Given the description of an element on the screen output the (x, y) to click on. 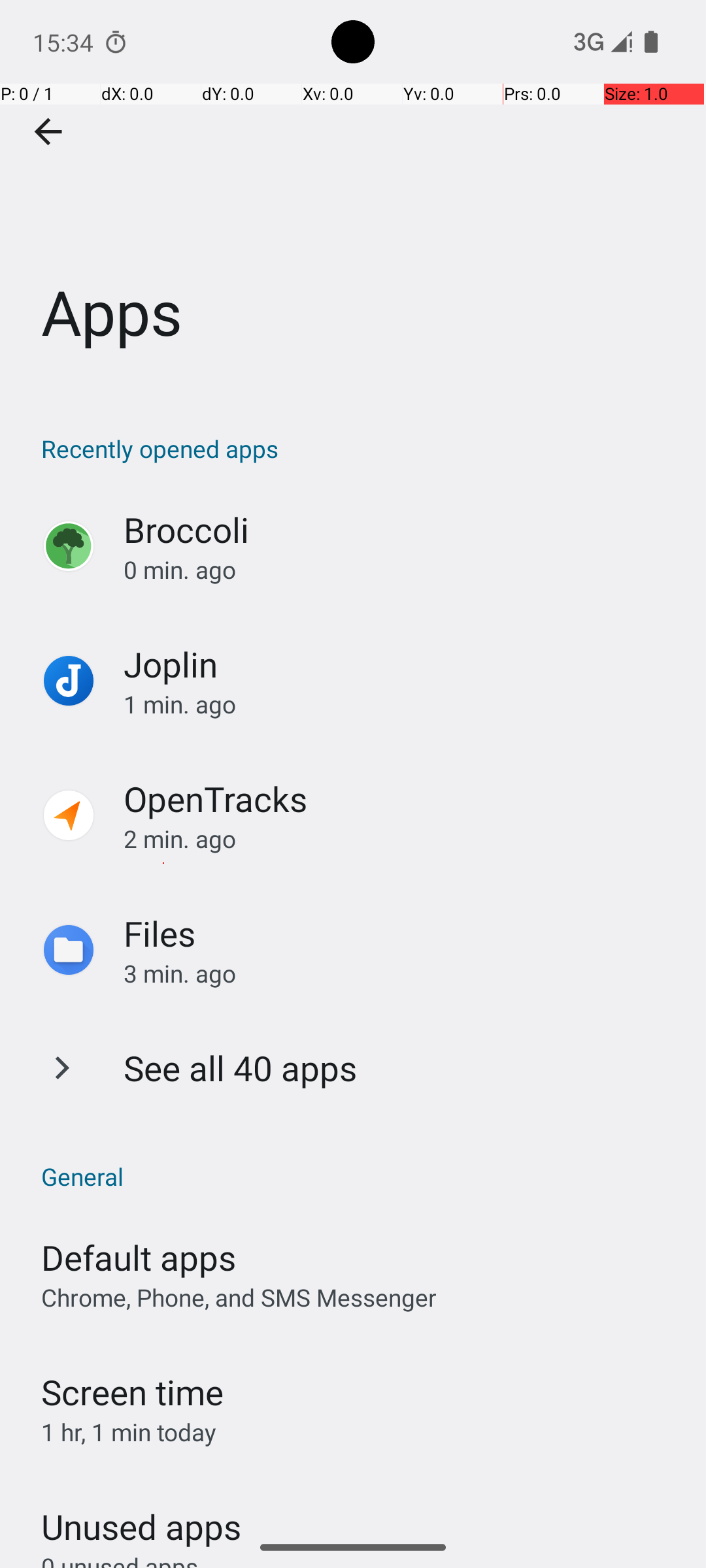
See all 40 apps Element type: android.widget.TextView (239, 1067)
1 hr, 1 min today Element type: android.widget.TextView (129, 1431)
